Given the description of an element on the screen output the (x, y) to click on. 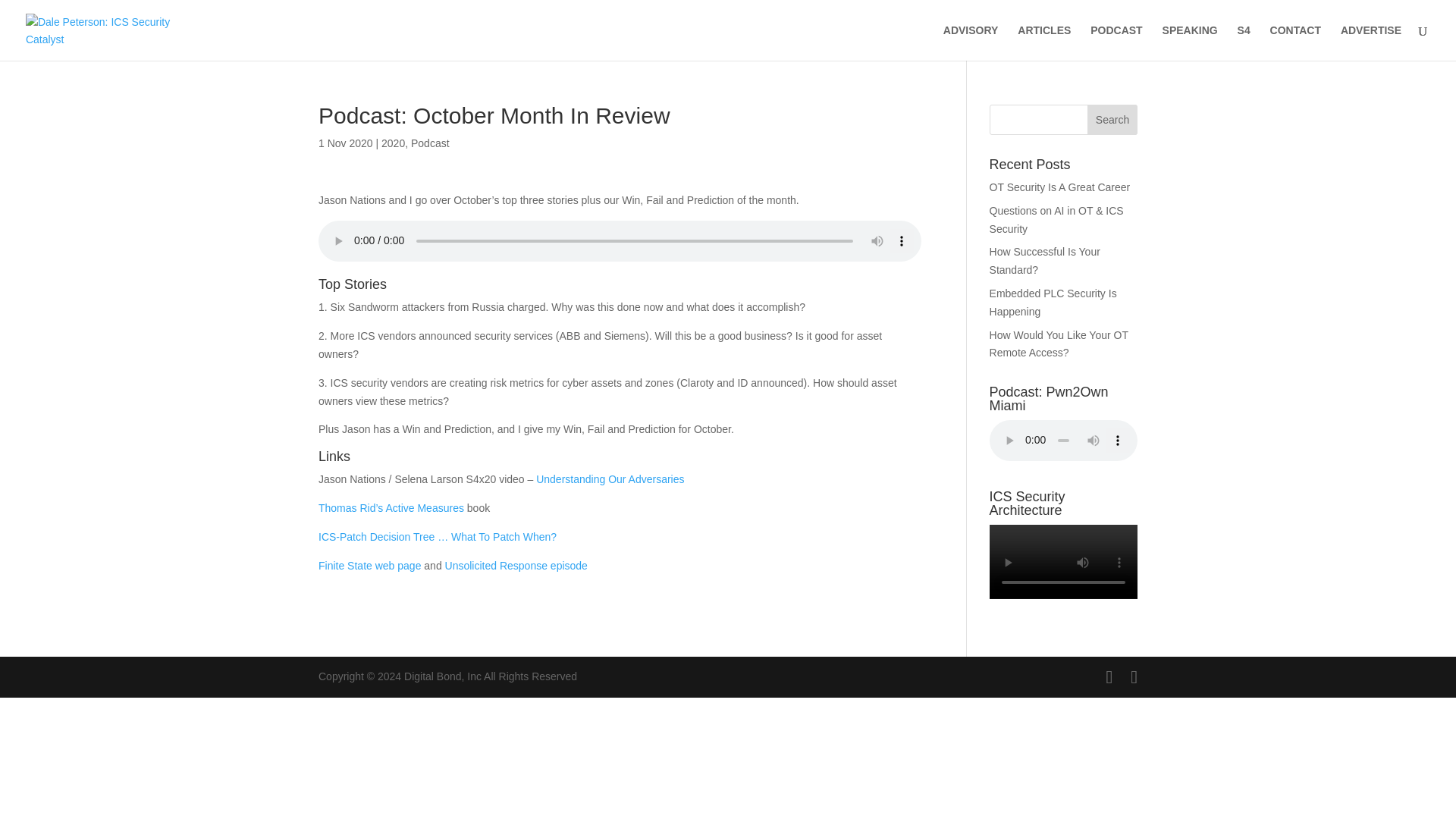
How Would You Like Your OT Remote Access? (1059, 344)
2020 (392, 143)
ARTICLES (1043, 42)
Search (1112, 119)
Search (1112, 119)
ADVERTISE (1370, 42)
Understanding Our Adversaries (609, 479)
CONTACT (1294, 42)
Finite State web page (369, 565)
How Successful Is Your Standard? (1045, 260)
